Given the description of an element on the screen output the (x, y) to click on. 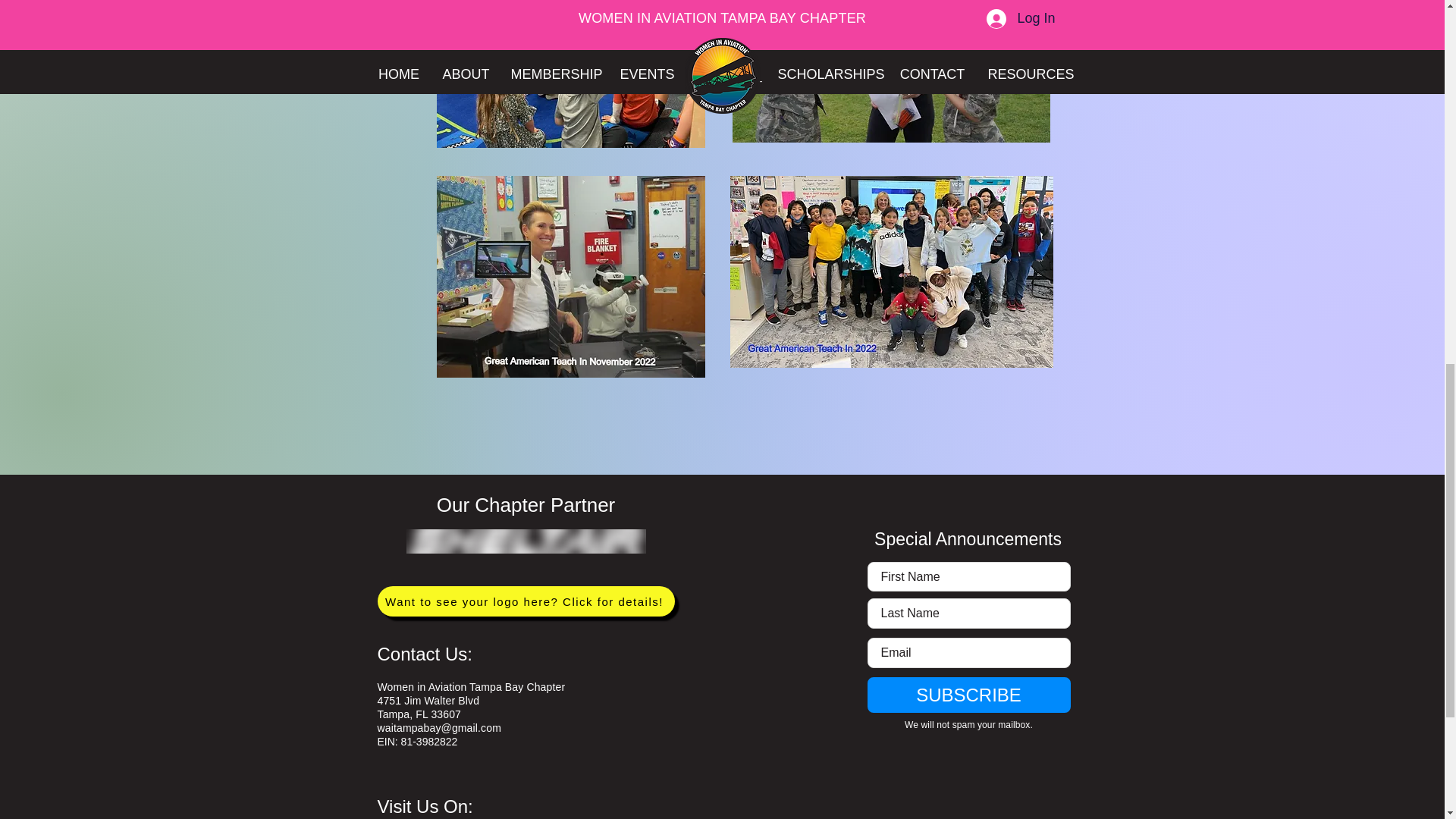
Want to see your logo here? Click for details! (526, 601)
SUBSCRIBE (968, 694)
